Given the description of an element on the screen output the (x, y) to click on. 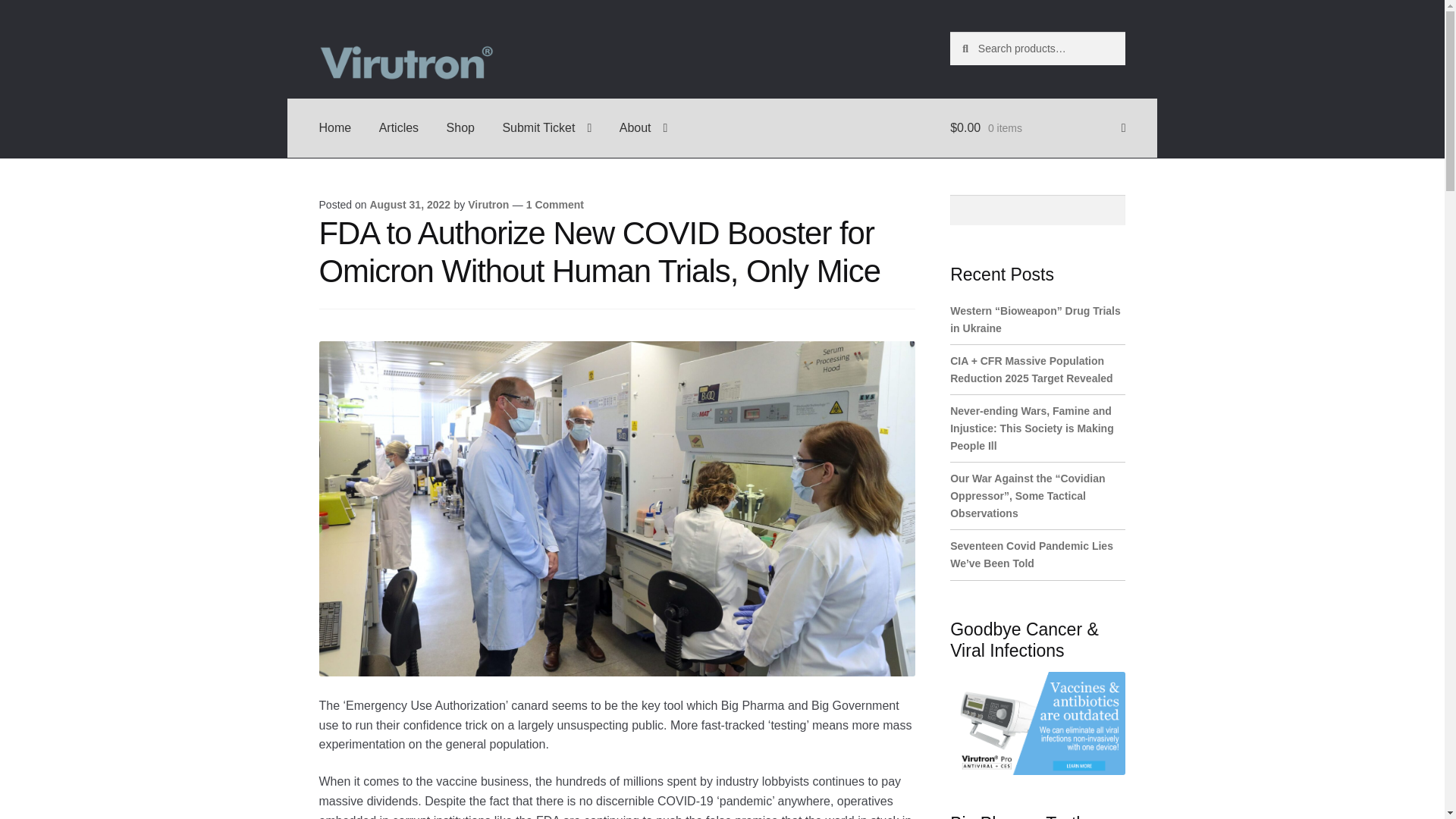
Submit Ticket (546, 128)
August 31, 2022 (409, 204)
Home (335, 128)
View your shopping cart (1037, 128)
1 Comment (554, 204)
About (643, 128)
Virutron (487, 204)
Articles (398, 128)
